Given the description of an element on the screen output the (x, y) to click on. 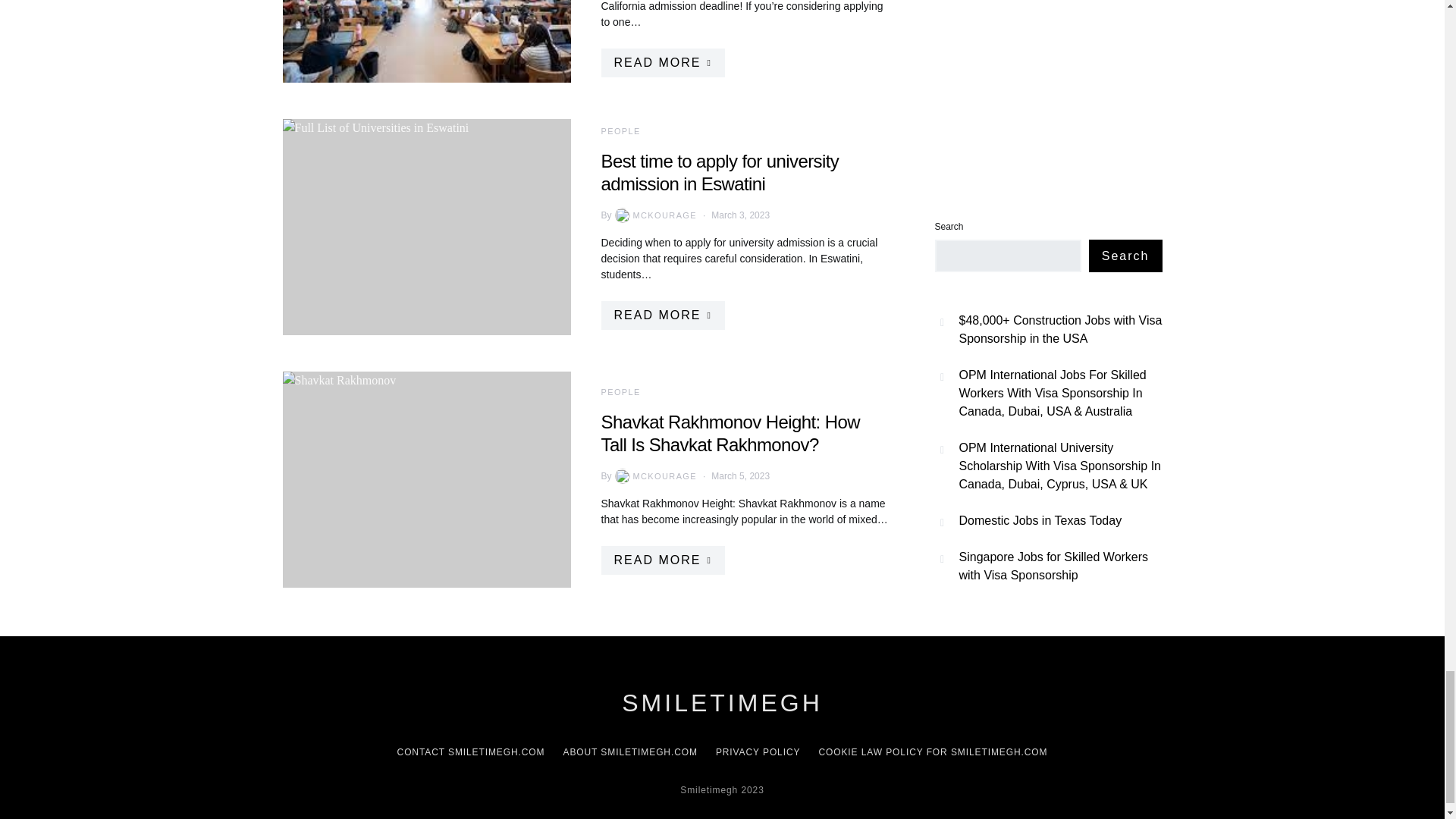
PEOPLE (619, 130)
View all posts by Mckourage (654, 215)
READ MORE (661, 62)
View all posts by Mckourage (654, 476)
